Given the description of an element on the screen output the (x, y) to click on. 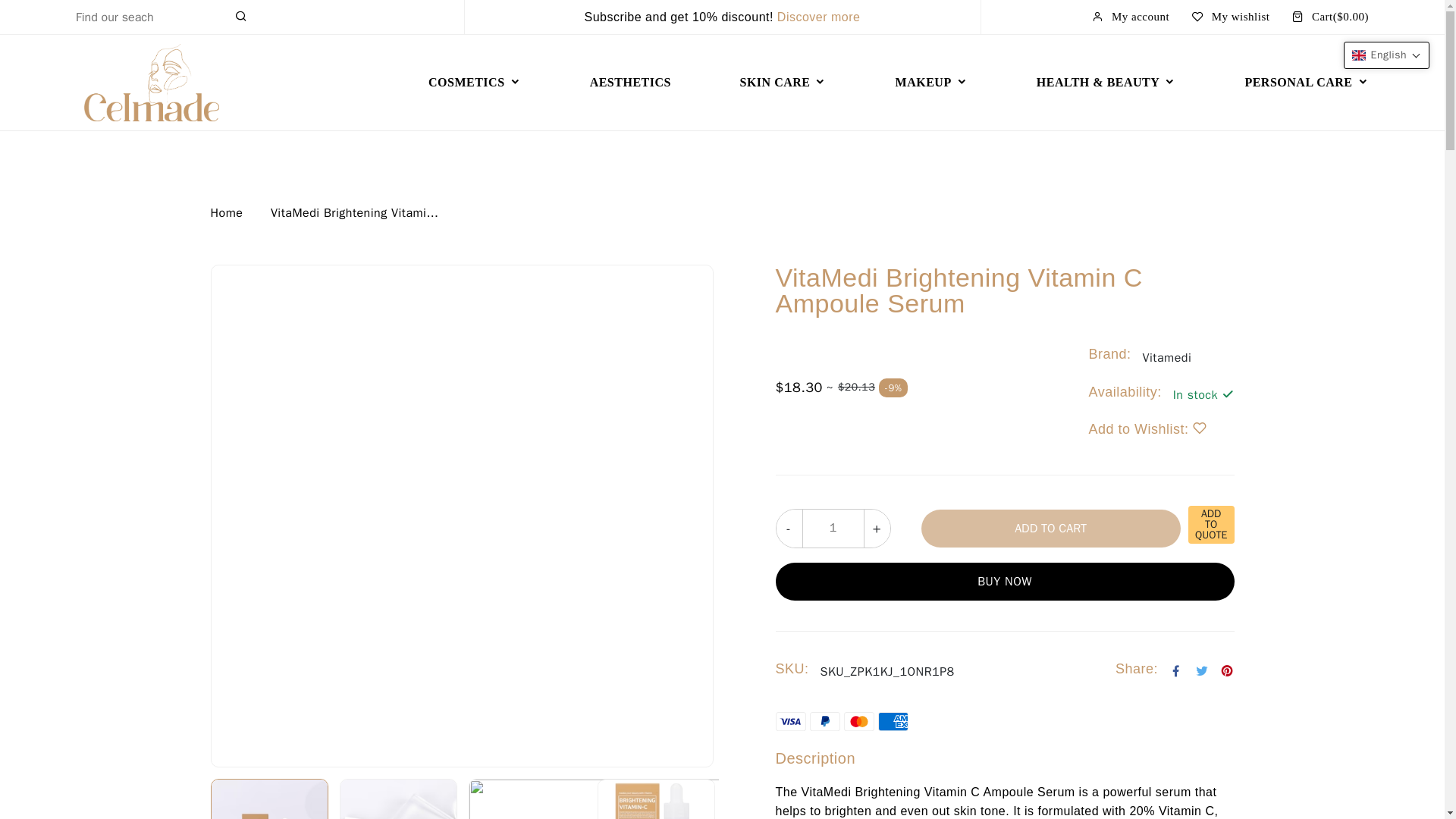
Discover more (818, 16)
My wishlist (1230, 16)
COSMETICS (474, 82)
Share on Facebook (1176, 671)
Share on Pinterest (1227, 671)
SKIN CARE (783, 82)
Share on Twitter (1202, 671)
1 (832, 528)
My account (1130, 16)
All collections (818, 16)
